Given the description of an element on the screen output the (x, y) to click on. 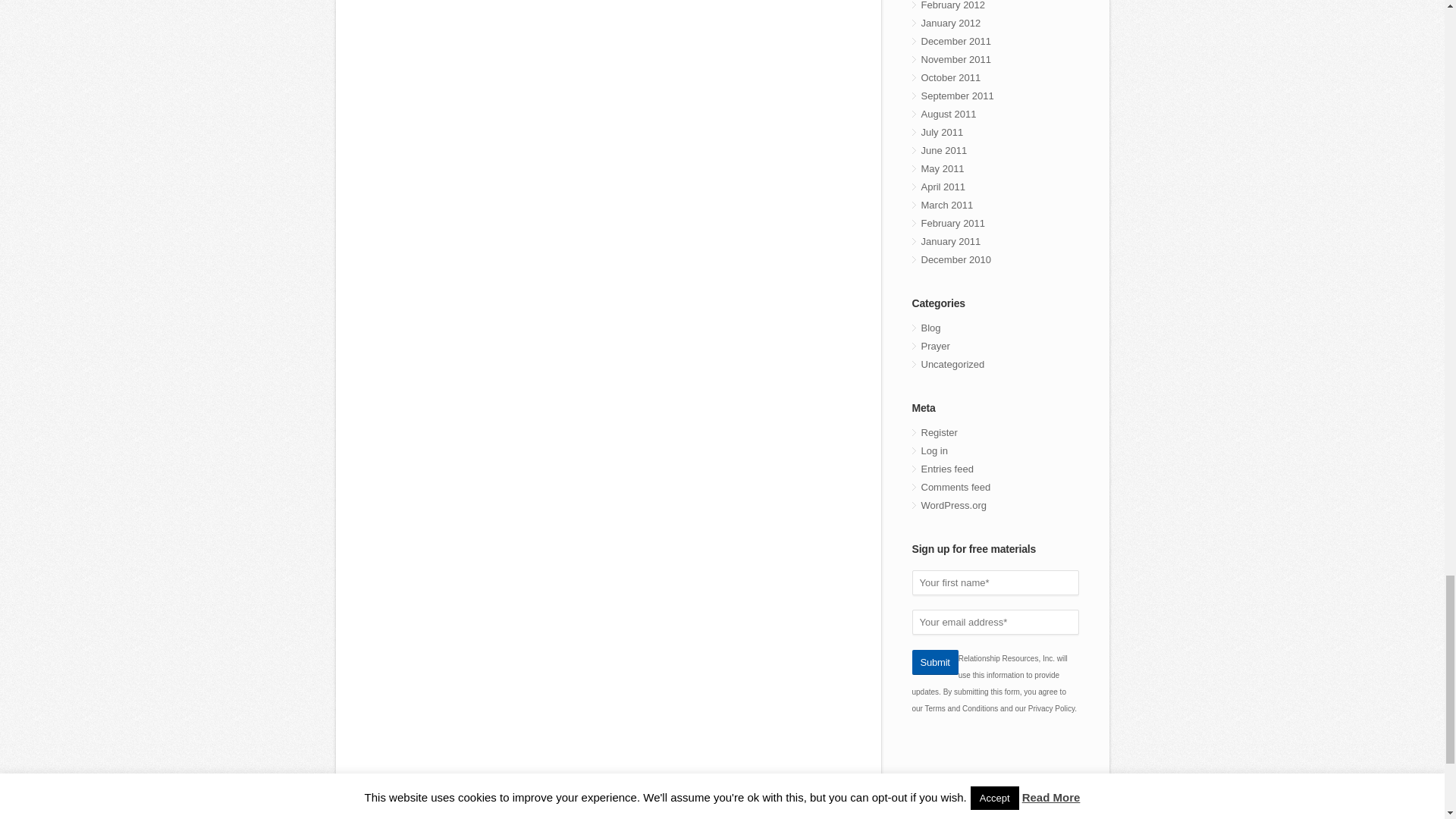
Submit (934, 661)
